Given the description of an element on the screen output the (x, y) to click on. 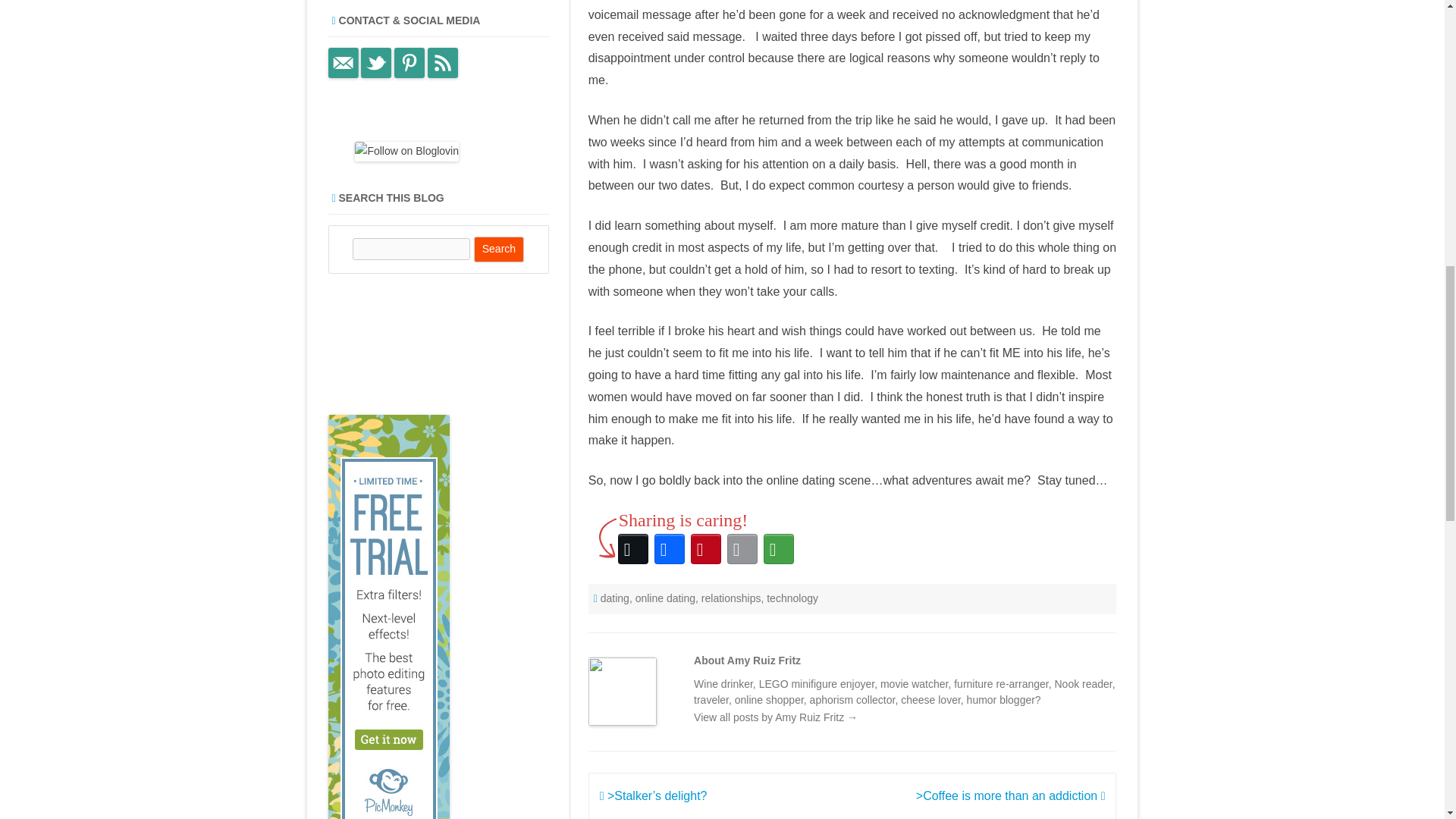
Email This (741, 548)
technology (792, 598)
Search (499, 249)
Search (499, 249)
Pinterest (705, 548)
online dating (664, 598)
dating (613, 598)
More Options (778, 548)
relationships (731, 598)
Facebook (668, 548)
Follow Chronicles of Nothing on Bloglovin (406, 150)
